Given the description of an element on the screen output the (x, y) to click on. 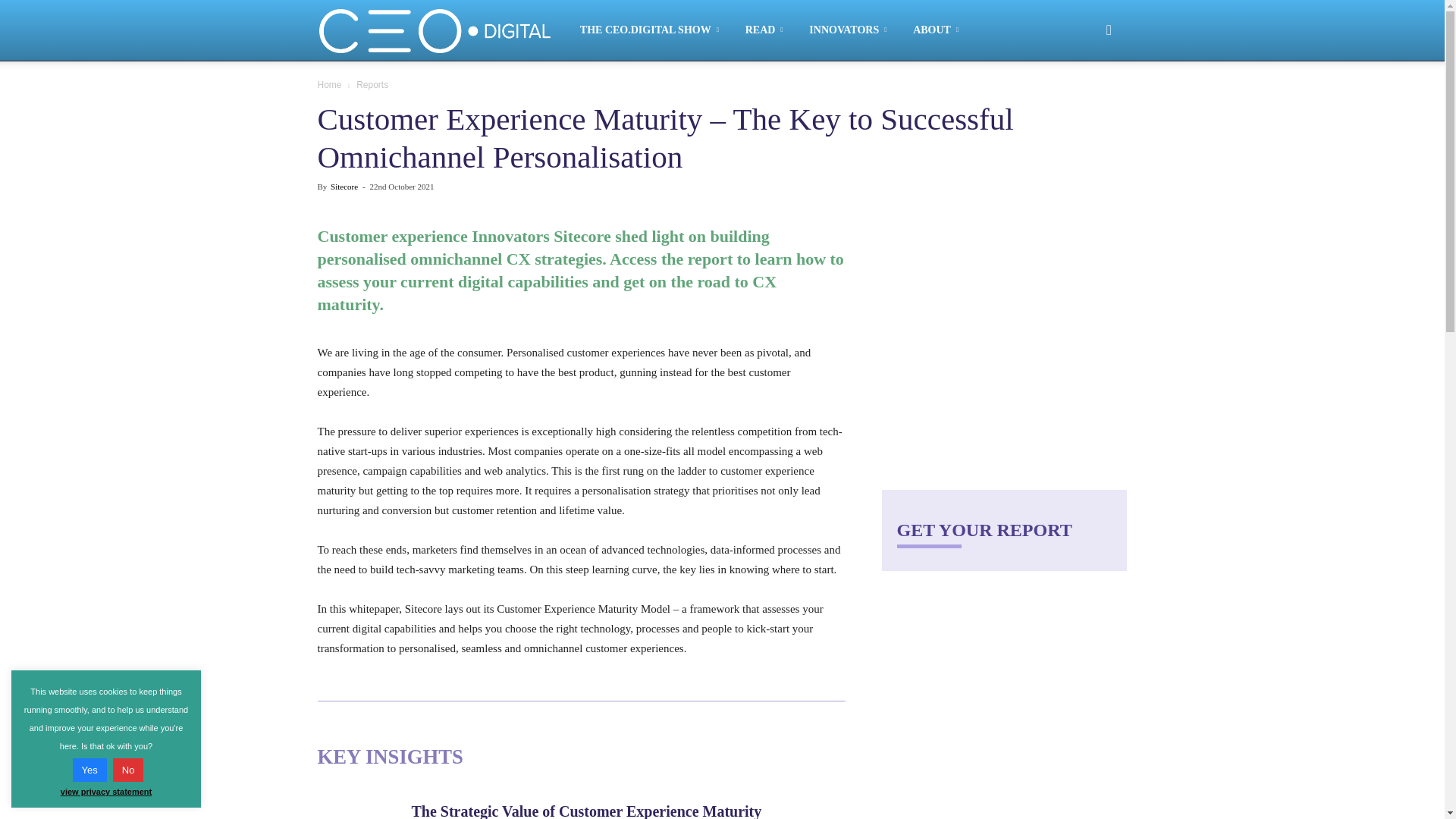
THE CEO.DIGITAL SHOW (652, 30)
ABOUT (938, 30)
INNOVATORS (849, 30)
CEO.digital (443, 30)
READ (767, 30)
